Given the description of an element on the screen output the (x, y) to click on. 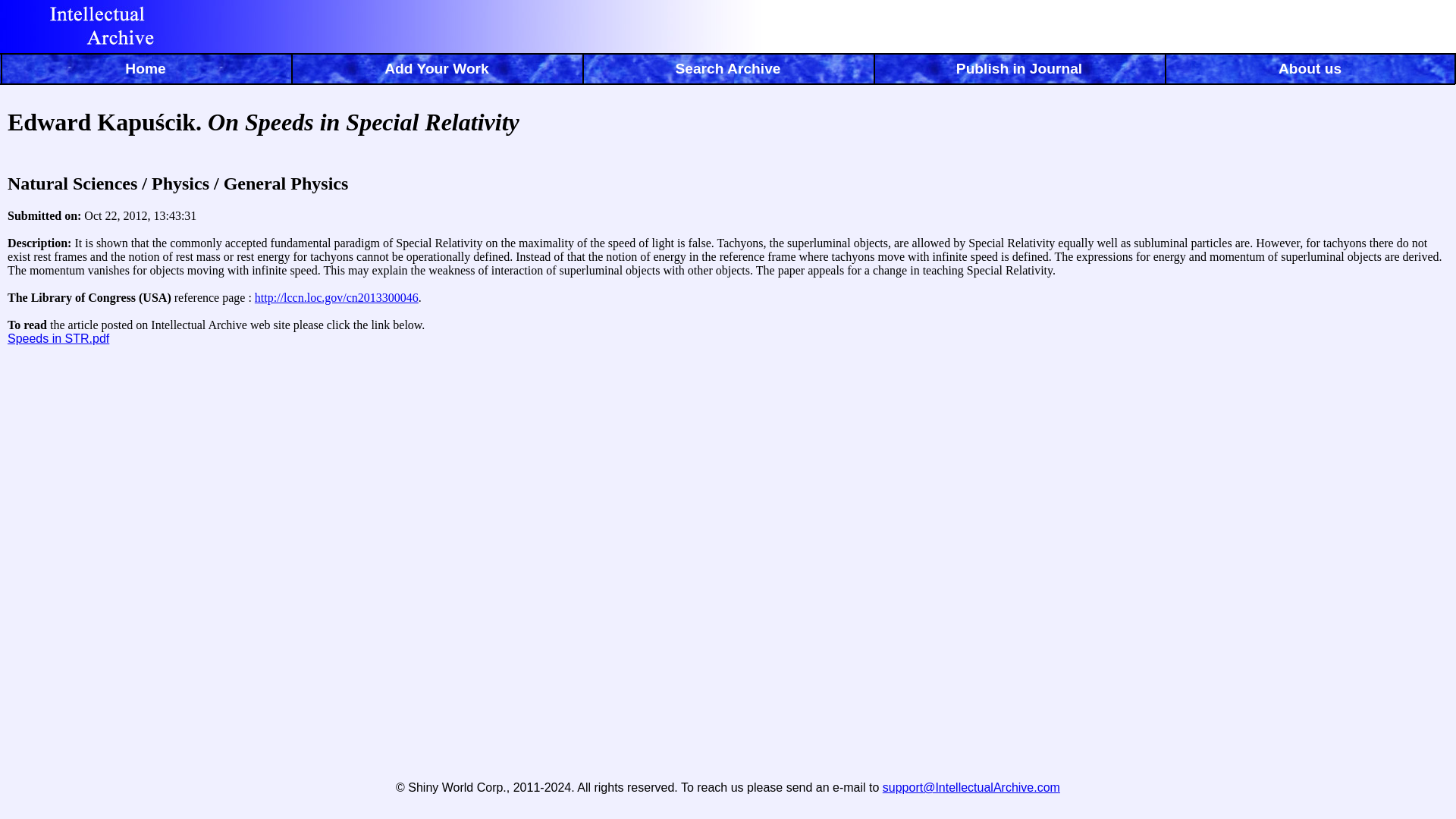
About us (1309, 71)
Search Archive (727, 71)
Speeds in STR.pdf (58, 338)
Publish in Journal (1018, 71)
Add Your Work (436, 71)
Home (145, 71)
